Given the description of an element on the screen output the (x, y) to click on. 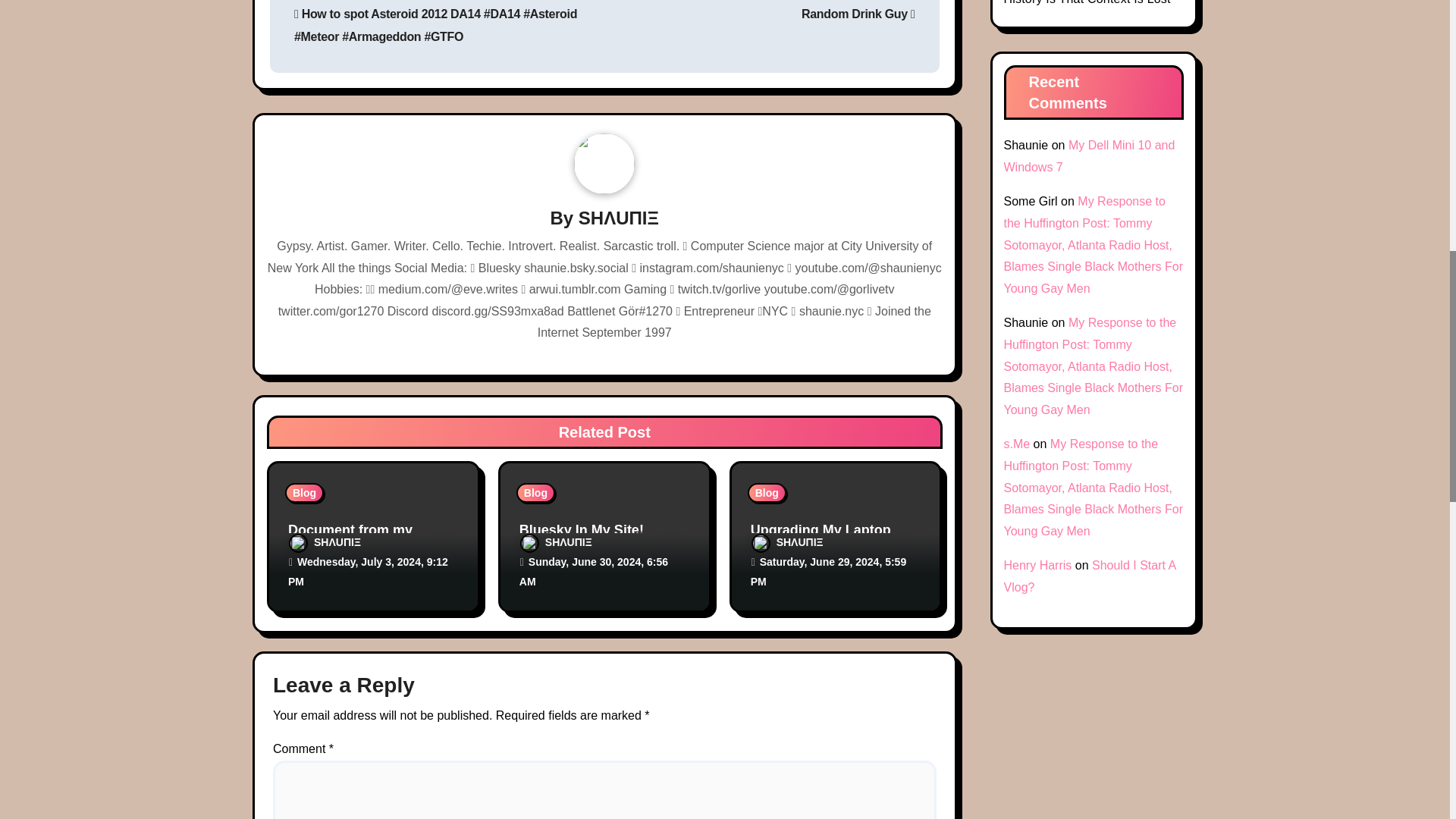
Permalink to: Upgrading My Laptop (821, 529)
Blog (304, 492)
Permalink to: Document from my reMarkable: Notebook 15 (368, 538)
Random Drink Guy (858, 13)
Permalink to: Bluesky In My Site! (581, 529)
Document from my reMarkable: Notebook 15 (368, 538)
Wednesday, July 3, 2024, 9:12 PM (368, 572)
